Given the description of an element on the screen output the (x, y) to click on. 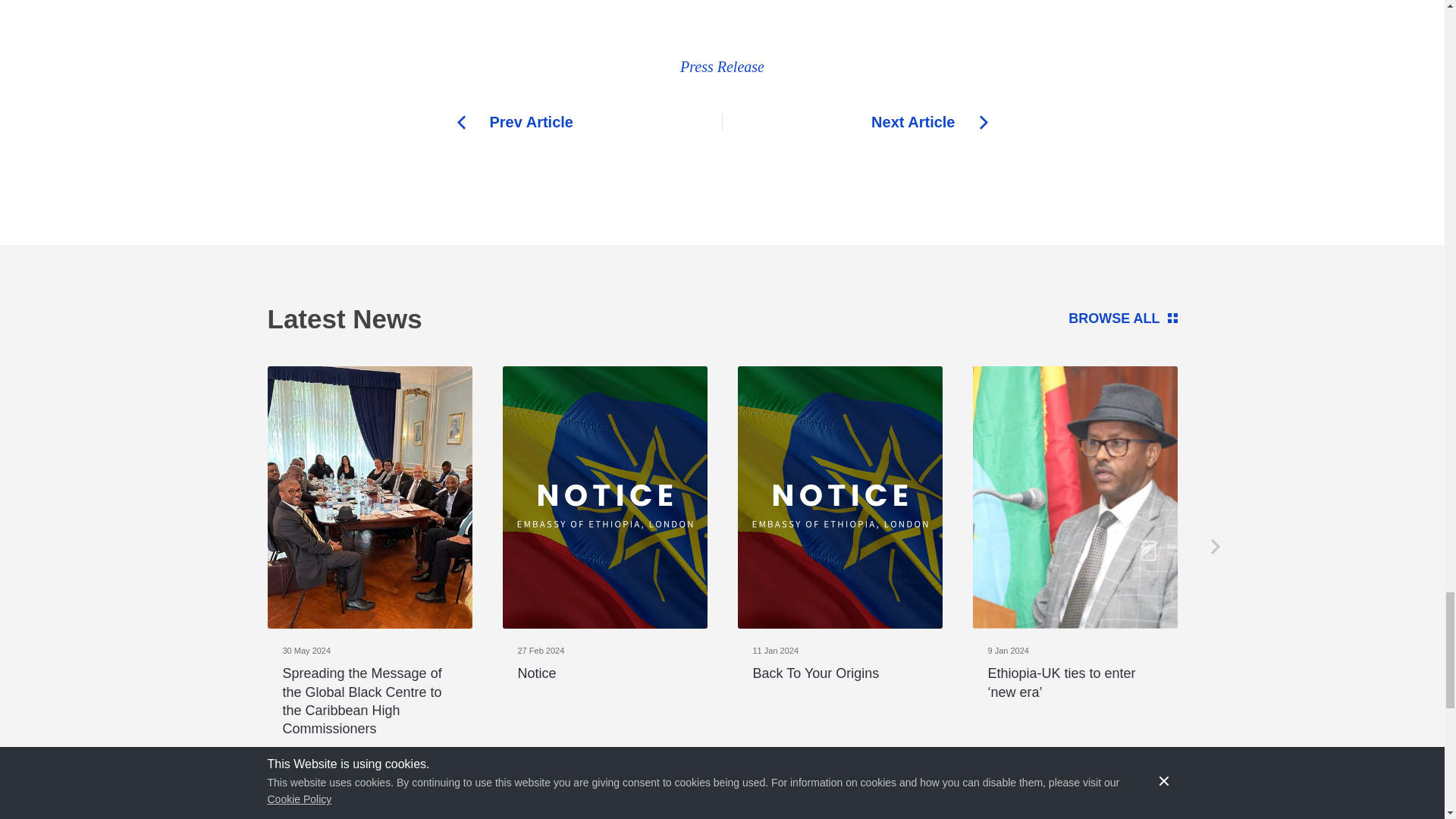
Press Release (721, 66)
BROWSE ALL (799, 318)
Prev Article (589, 122)
Next Article (854, 122)
